Given the description of an element on the screen output the (x, y) to click on. 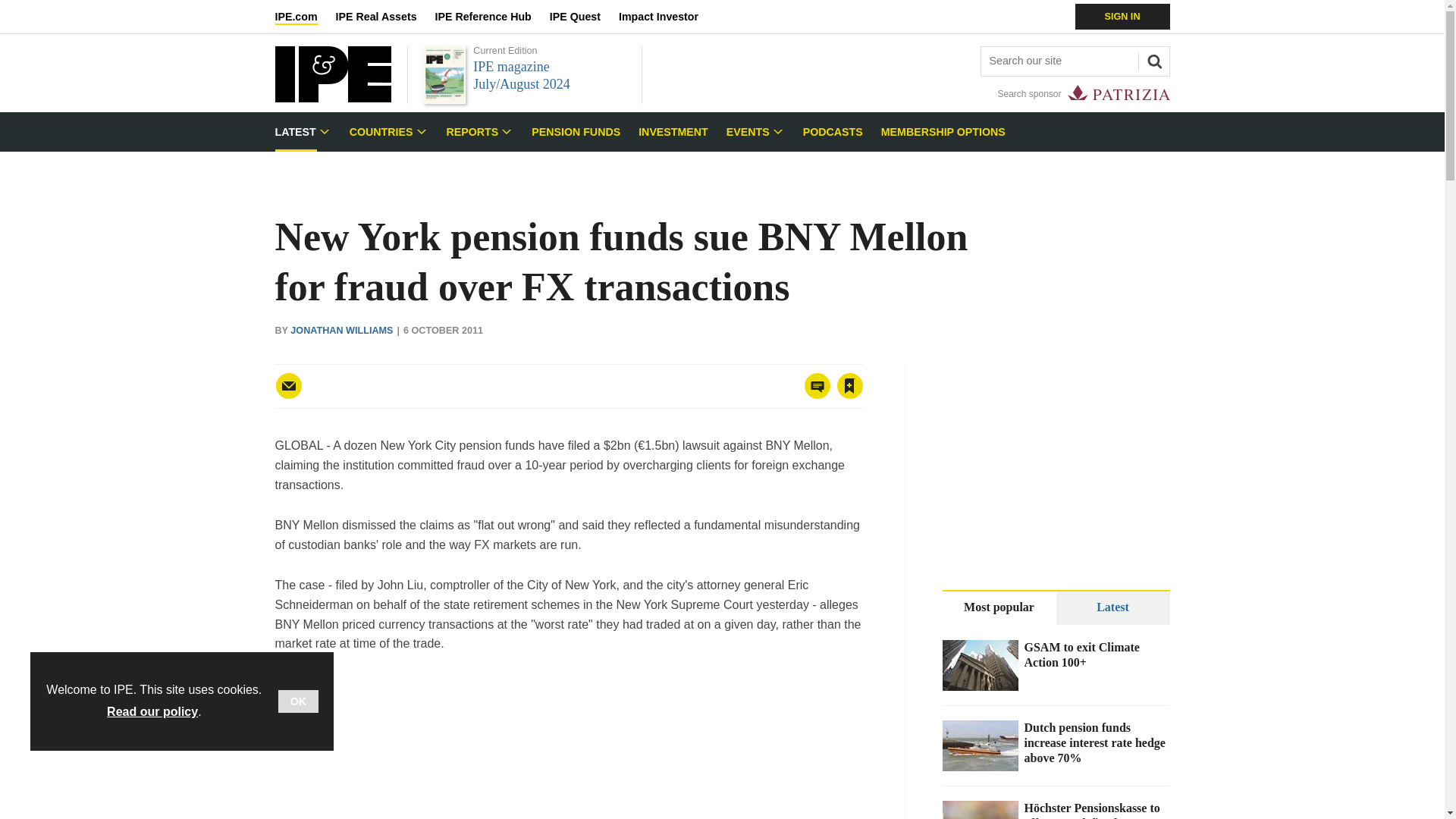
3rd party ad content (568, 746)
IPE Real Assets (384, 16)
SEARCH (1152, 59)
Impact Investor (667, 16)
IPE Reference Hub (491, 16)
IPE Reference Hub (491, 16)
IPE Quest (583, 16)
IPE (332, 97)
IPE Real Assets (384, 16)
Read our policy (152, 711)
